Given the description of an element on the screen output the (x, y) to click on. 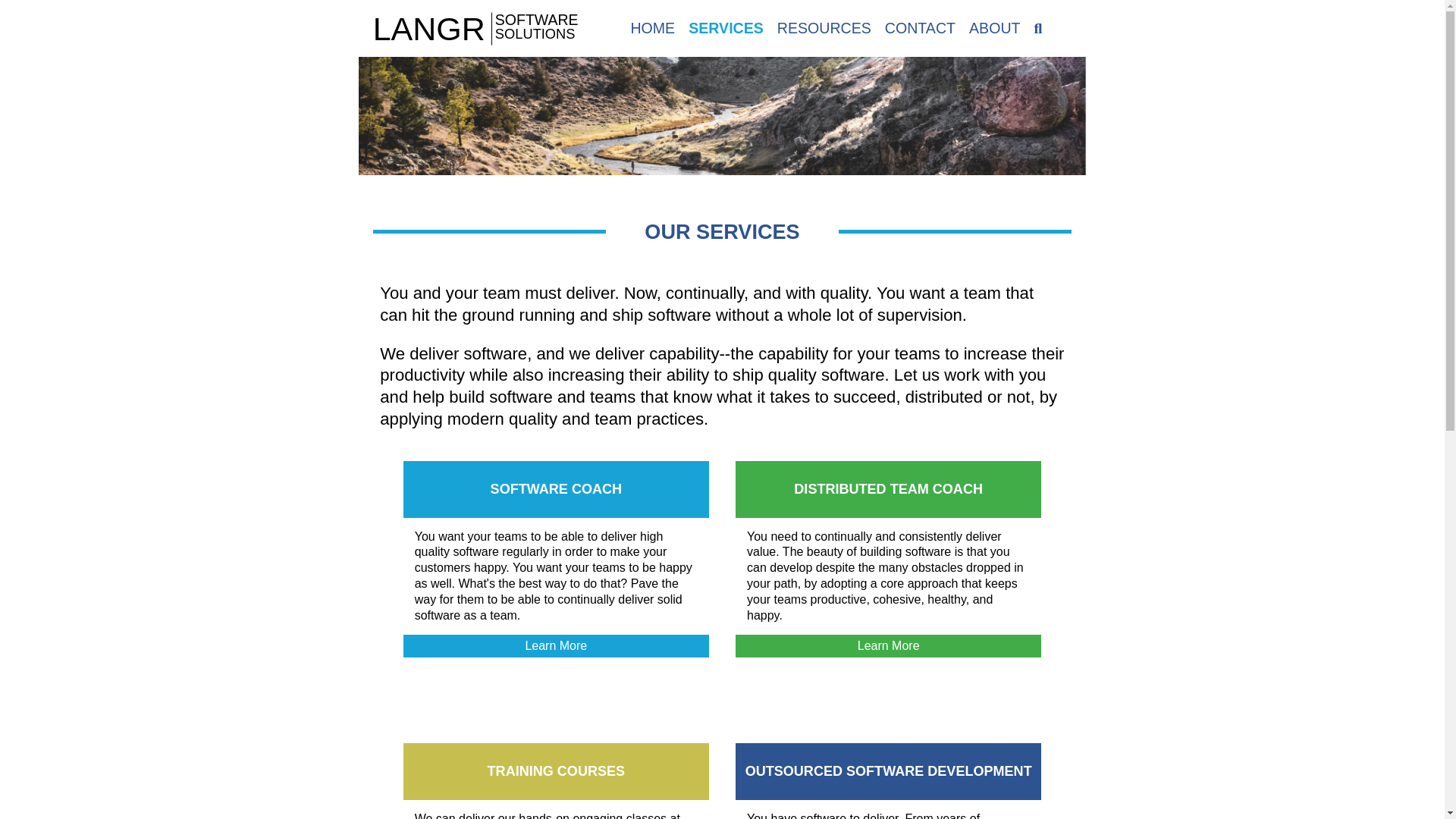
RESOURCES (484, 28)
CONTACT (823, 27)
SOFTWARE COACH (920, 27)
DISTRIBUTED TEAM COACH (555, 488)
ABOUT (887, 488)
OUTSOURCED SOFTWARE DEVELOPMENT (994, 27)
HOME (888, 770)
SERVICES (652, 27)
Learn More (725, 27)
TRAINING COURSES (888, 645)
Learn More (555, 770)
